Given the description of an element on the screen output the (x, y) to click on. 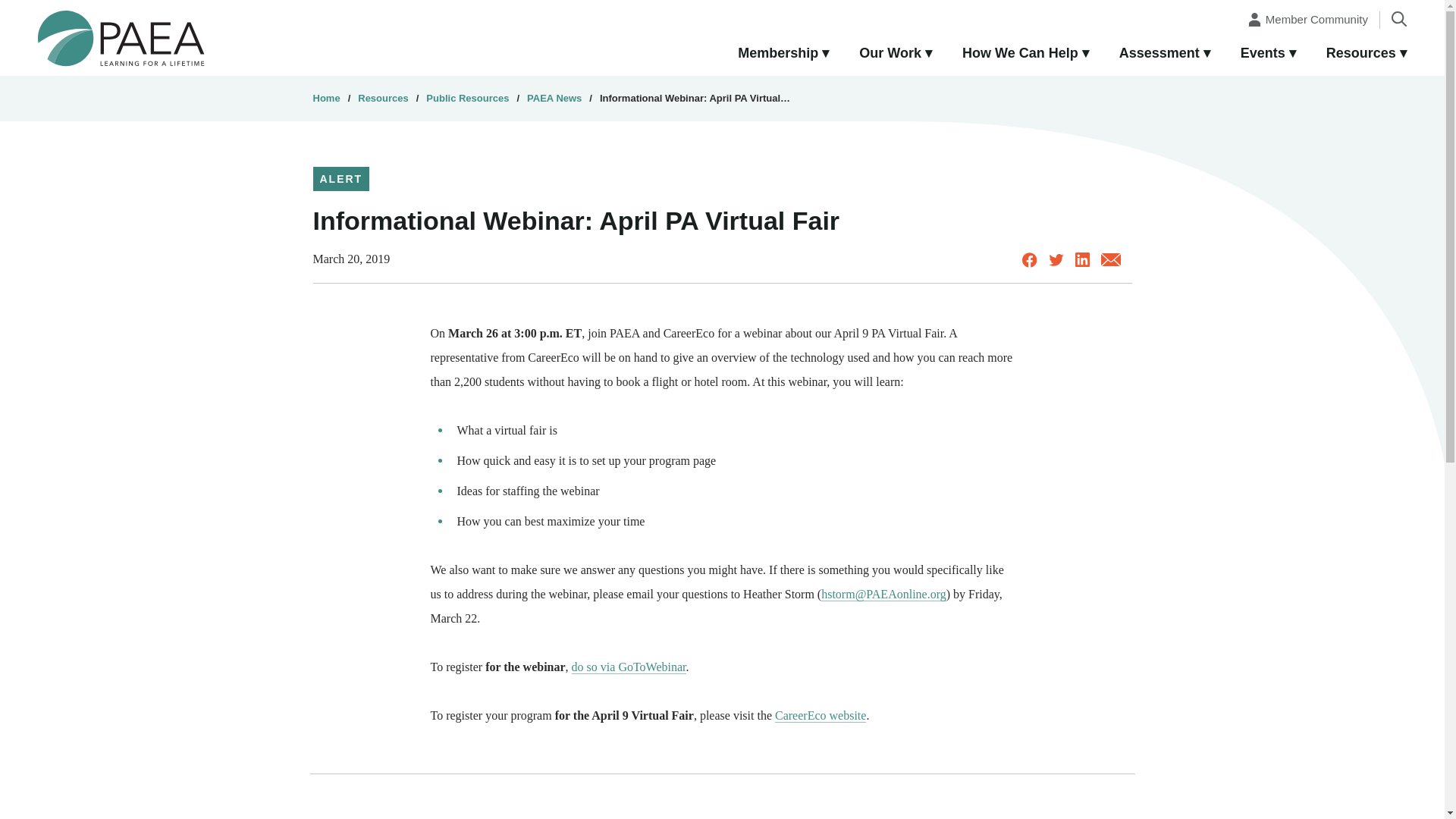
homepage (121, 37)
Our Work (895, 53)
Membership (783, 53)
